Given the description of an element on the screen output the (x, y) to click on. 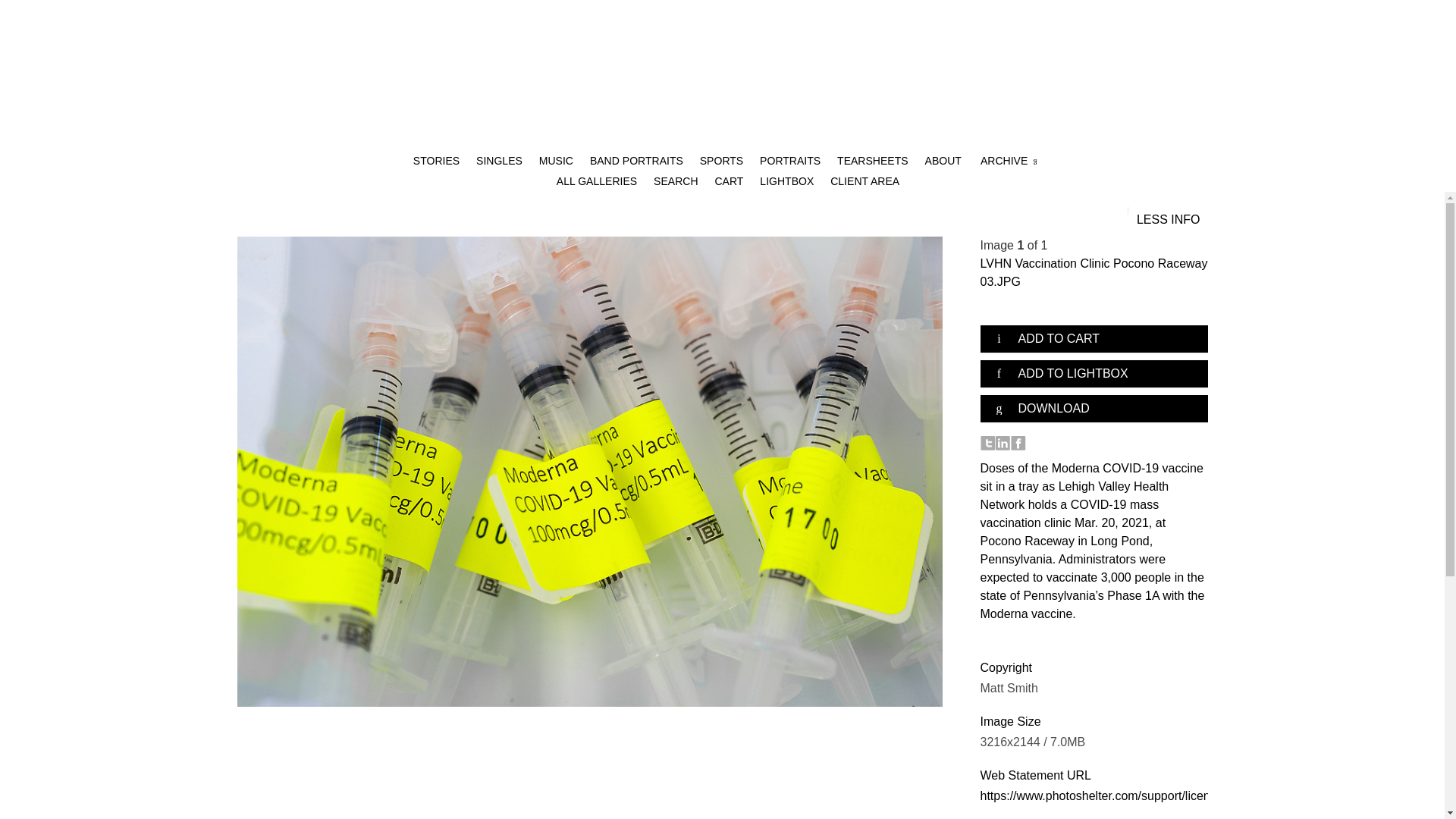
TEARSHEETS (872, 160)
PORTRAITS (790, 160)
CART (728, 181)
MUSIC (555, 160)
MATT SMITH PHOTOGRAPHER (727, 75)
ADD TO LIGHTBOX (1093, 373)
Info (1168, 219)
ADD TO CART (1093, 338)
SPORTS (721, 160)
LIGHTBOX (786, 181)
